Given the description of an element on the screen output the (x, y) to click on. 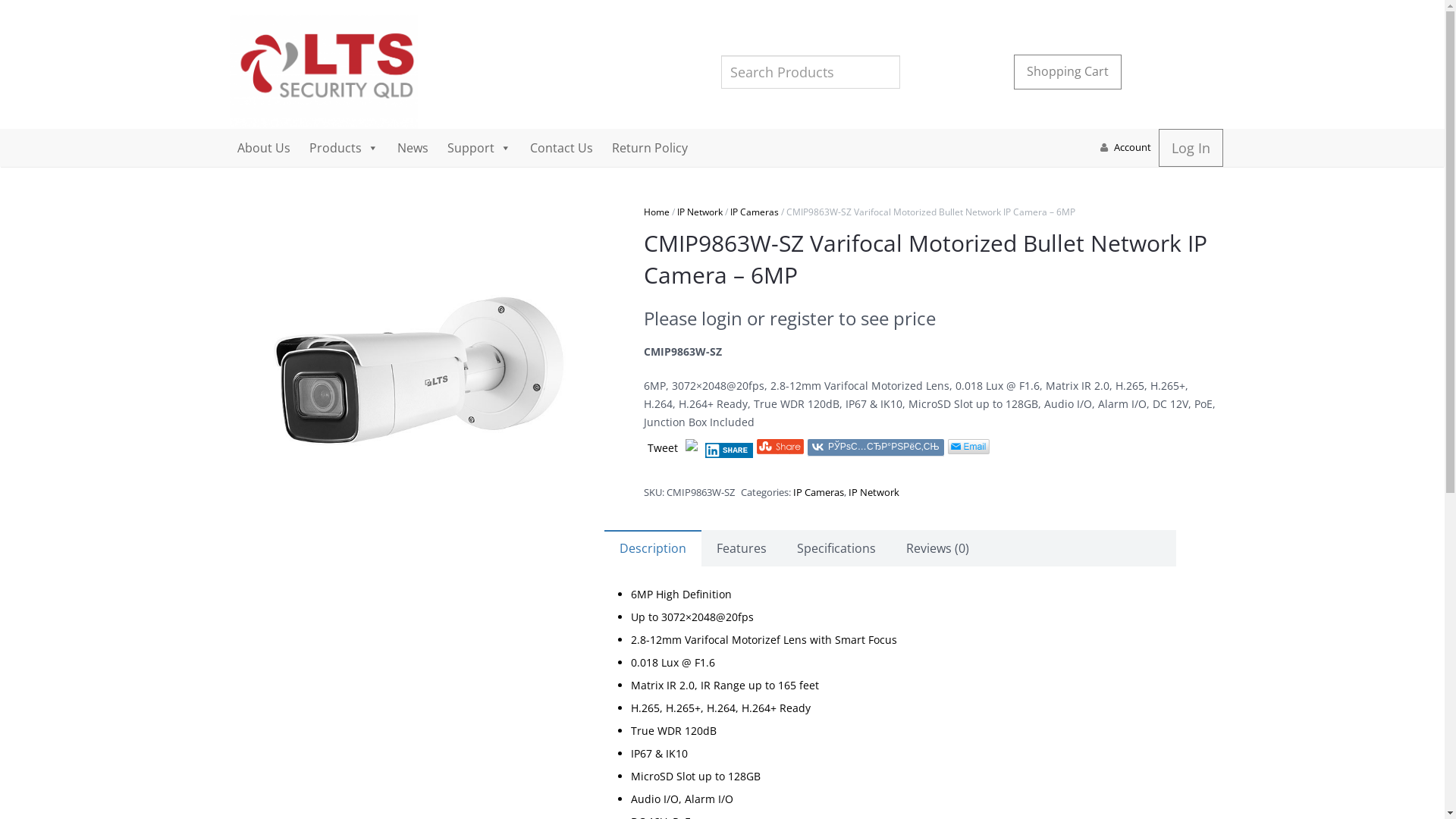
Shopping Cart Element type: text (1067, 70)
News Element type: text (412, 147)
Features Element type: text (740, 548)
Account Element type: text (1132, 146)
Tweet Element type: text (662, 447)
IP Network Element type: text (698, 211)
SHARE Element type: text (729, 450)
Specifications Element type: text (835, 548)
Home Element type: text (655, 211)
Reviews (0) Element type: text (936, 548)
Contact Us Element type: text (560, 147)
CMIP9883NW-SZ Element type: hover (416, 372)
About Us Element type: text (263, 147)
Log In Element type: text (1190, 147)
IP Cameras Element type: text (818, 491)
Support Element type: text (478, 147)
Return Policy Element type: text (648, 147)
IP Cameras Element type: text (753, 211)
Products Element type: text (343, 147)
IP Network Element type: text (872, 491)
Description Element type: text (651, 548)
